Given the description of an element on the screen output the (x, y) to click on. 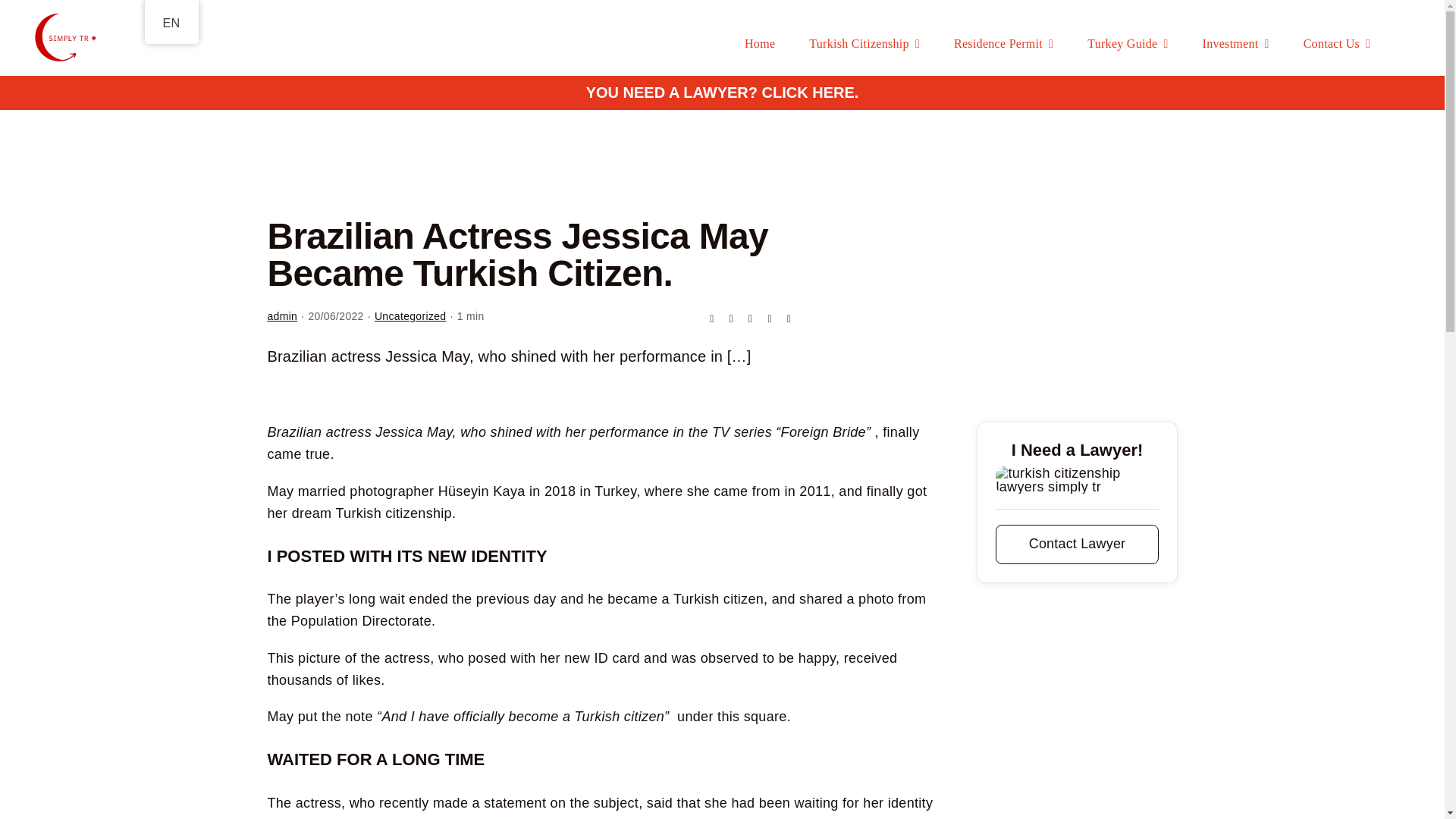
Home (759, 44)
Turkish Citizenship (864, 44)
Turkey Guide (1127, 44)
Contact for details (1076, 543)
turkish citizenship lawyers simply tr (1076, 479)
Residence Permit (1002, 44)
Posts by admin (281, 316)
